Given the description of an element on the screen output the (x, y) to click on. 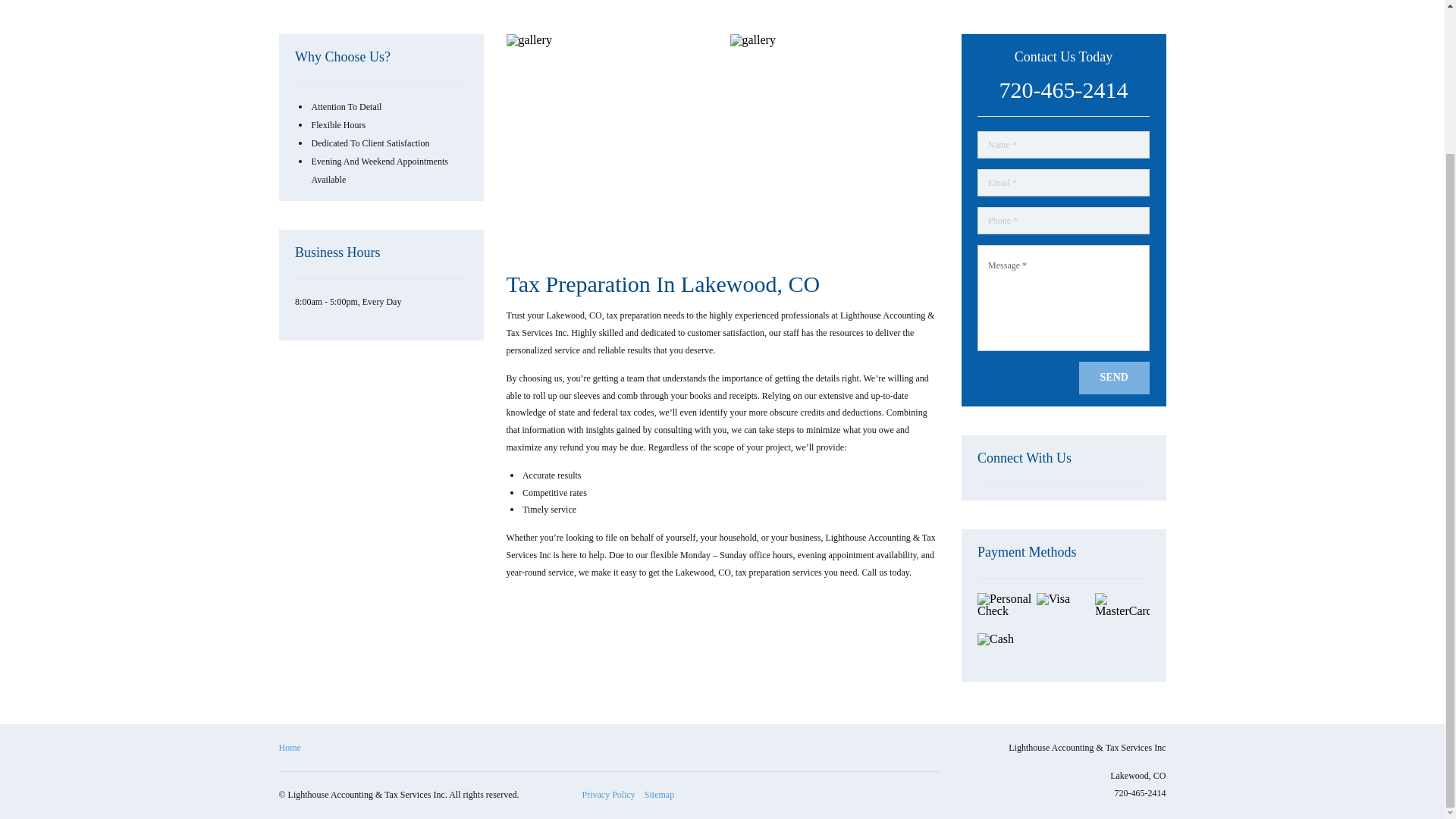
SEND (1114, 377)
MasterCard (1122, 610)
Home (290, 747)
Sitemap (659, 794)
Personal Check (1004, 610)
Cash (1004, 651)
Visa (1063, 610)
Privacy Policy (607, 794)
